Given the description of an element on the screen output the (x, y) to click on. 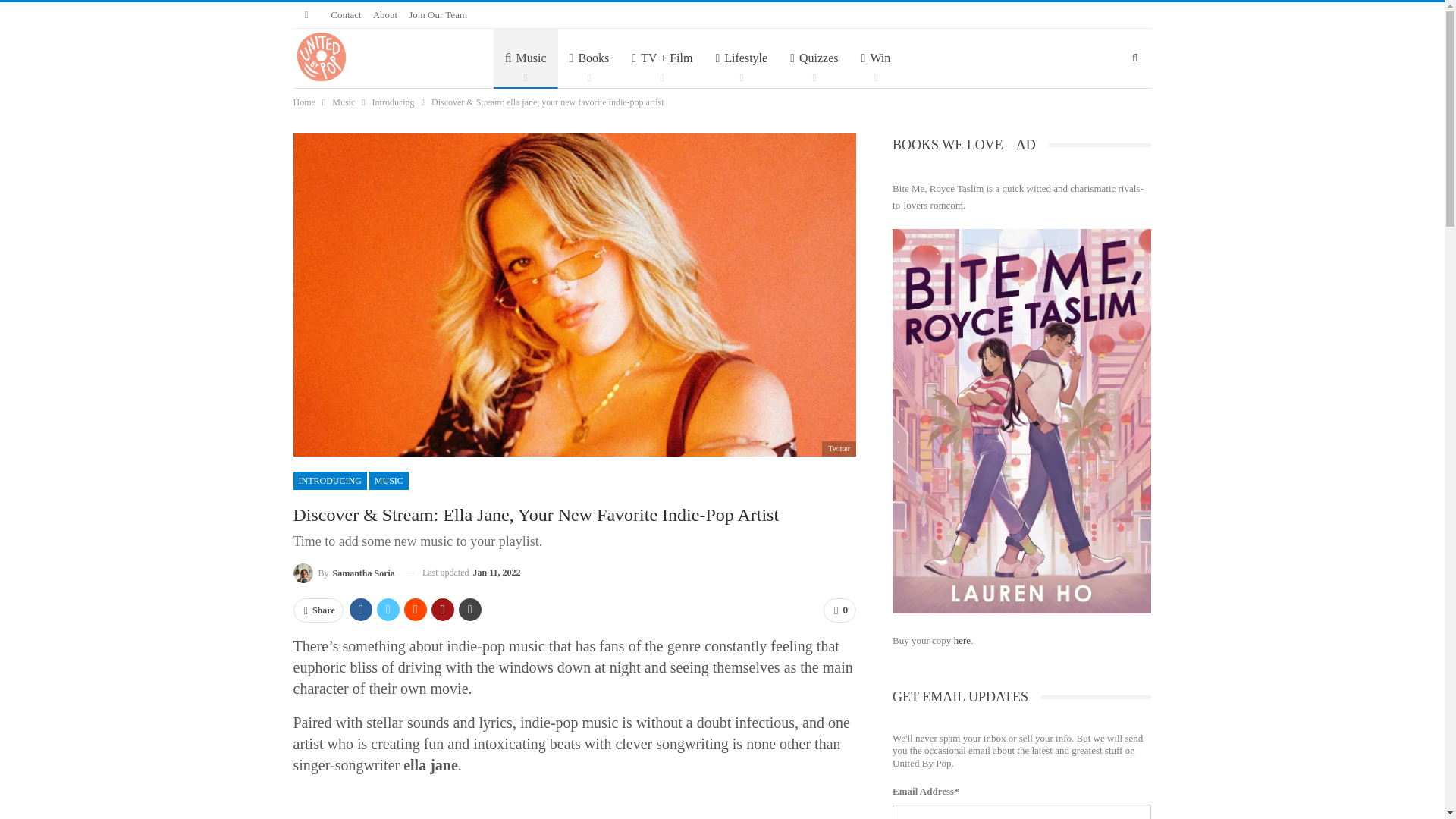
Music (525, 57)
Books (589, 57)
Music (525, 57)
About (384, 14)
Join Our Team (438, 14)
Contact (345, 14)
